Given the description of an element on the screen output the (x, y) to click on. 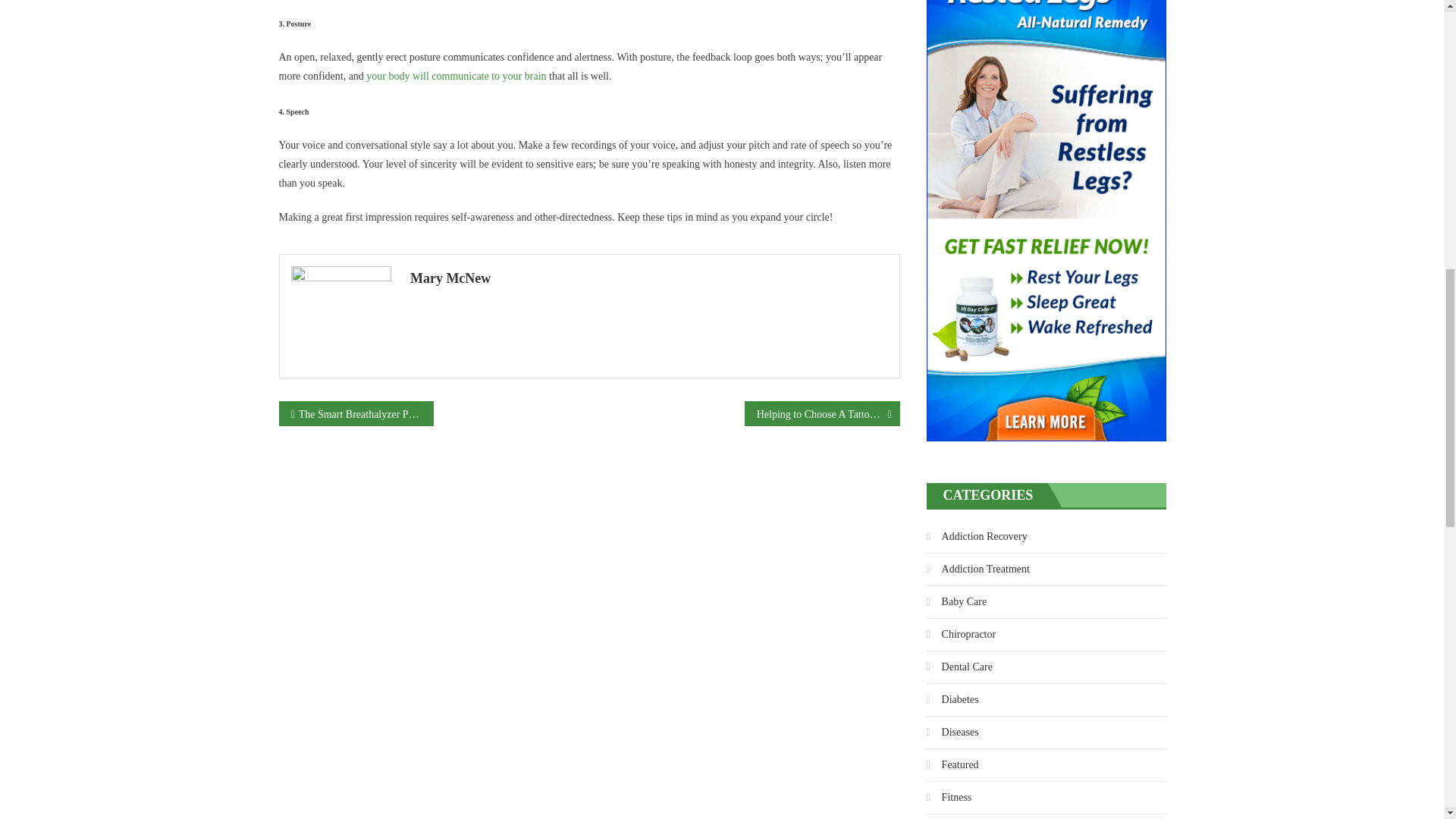
Helping to Choose A Tattoo Studio (821, 413)
your body will communicate to your brain (456, 75)
Mary McNew (649, 278)
